Given the description of an element on the screen output the (x, y) to click on. 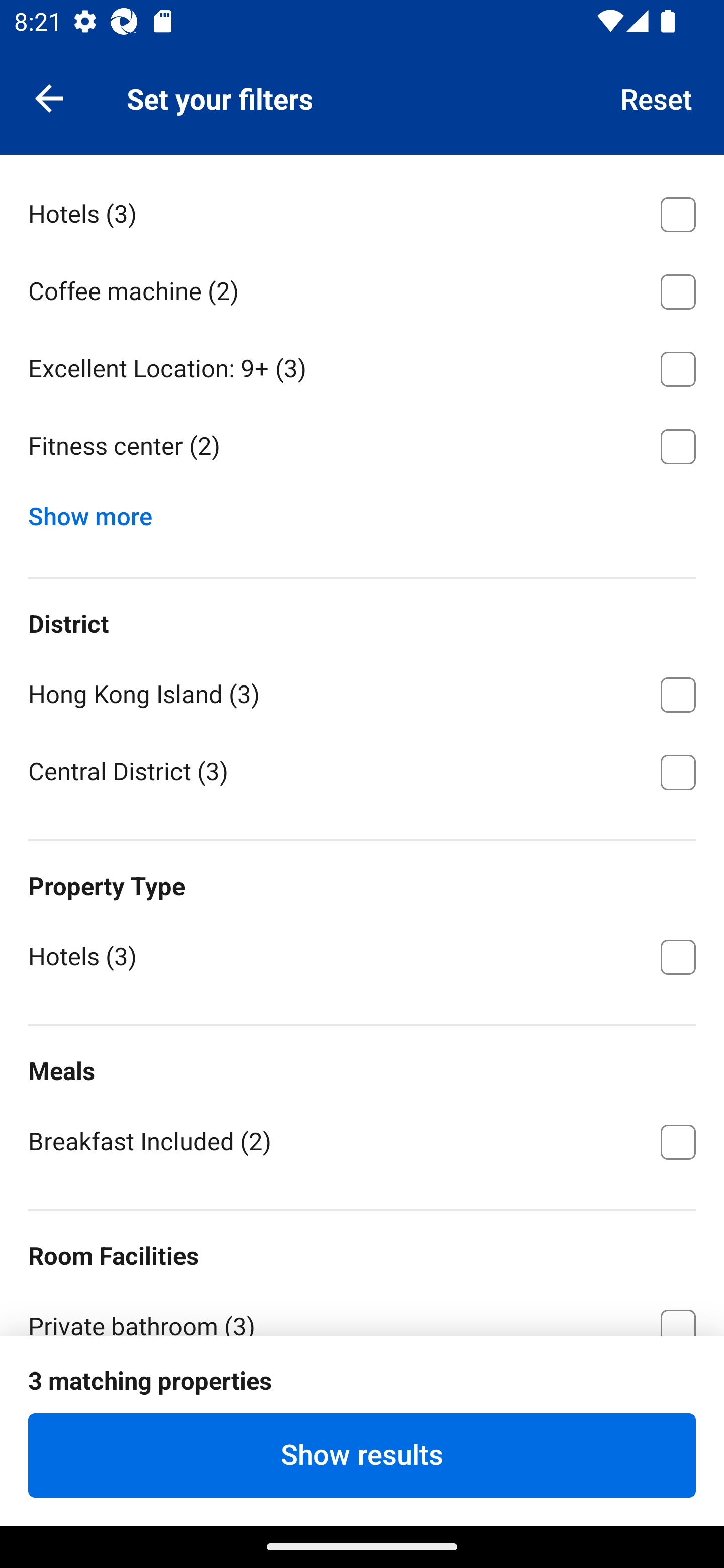
Navigate up (49, 97)
Reset (656, 97)
Hotels ⁦(3) (361, 210)
Coffee machine ⁦(2) (361, 288)
Excellent Location: 9+ ⁦(3) (361, 365)
Fitness center ⁦(2) (361, 446)
Show more (97, 511)
Hong Kong Island ⁦(3) (361, 691)
Central District ⁦(3) (361, 770)
Hotels ⁦(3) (361, 955)
Breakfast Included ⁦(2) (361, 1140)
Private bathroom ⁦(3) (361, 1310)
Air conditioning ⁦(3) (361, 1400)
Show results (361, 1454)
